Given the description of an element on the screen output the (x, y) to click on. 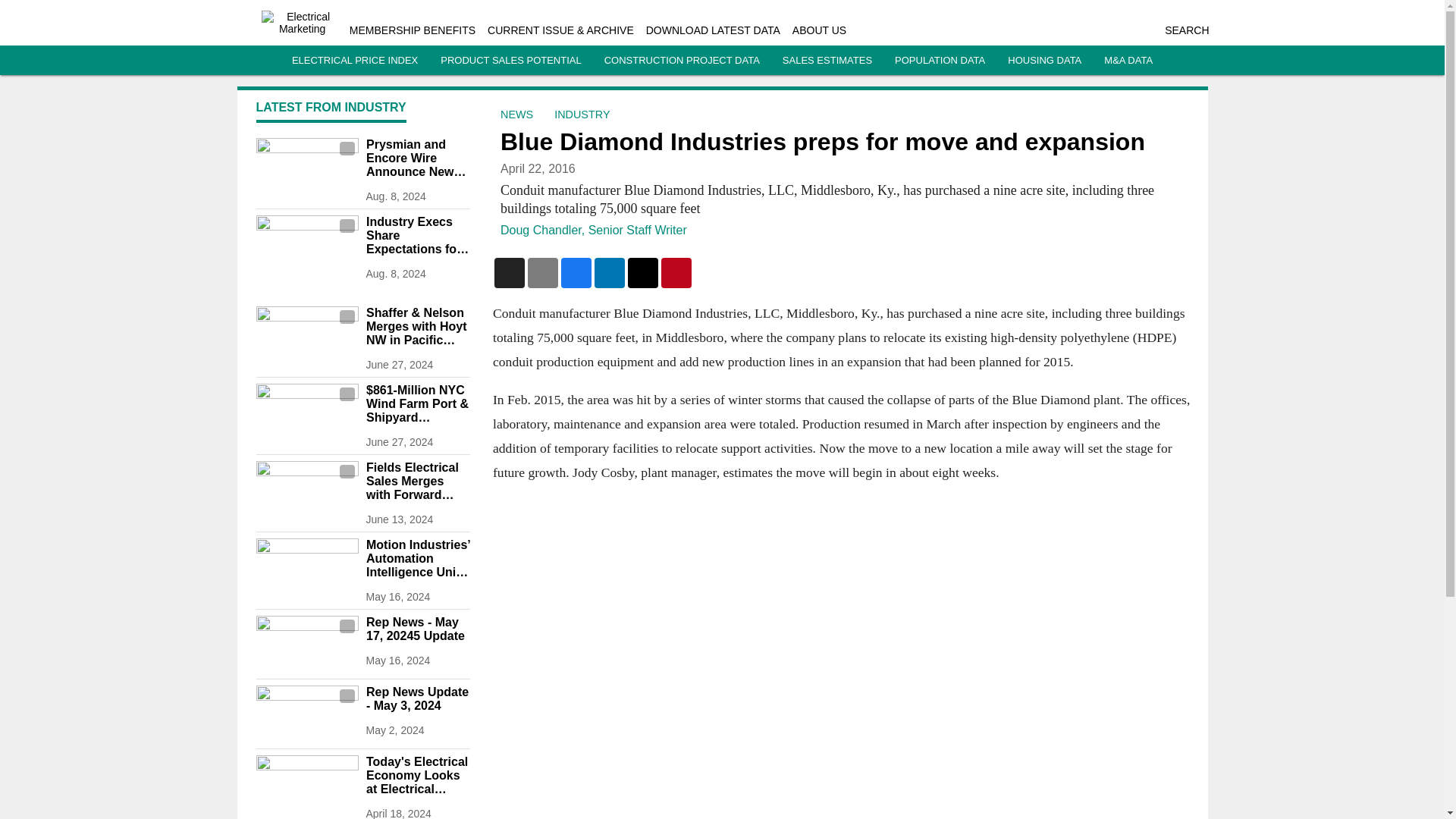
ABOUT US (818, 30)
SEARCH (1186, 30)
Rep News Update - May 3, 2024 (417, 698)
DOWNLOAD LATEST DATA (713, 30)
CONSTRUCTION PROJECT DATA (682, 60)
HOUSING DATA (1044, 60)
Fields Electrical Sales Merges with Forward Solutions (417, 481)
PRODUCT SALES POTENTIAL (510, 60)
POPULATION DATA (940, 60)
